Given the description of an element on the screen output the (x, y) to click on. 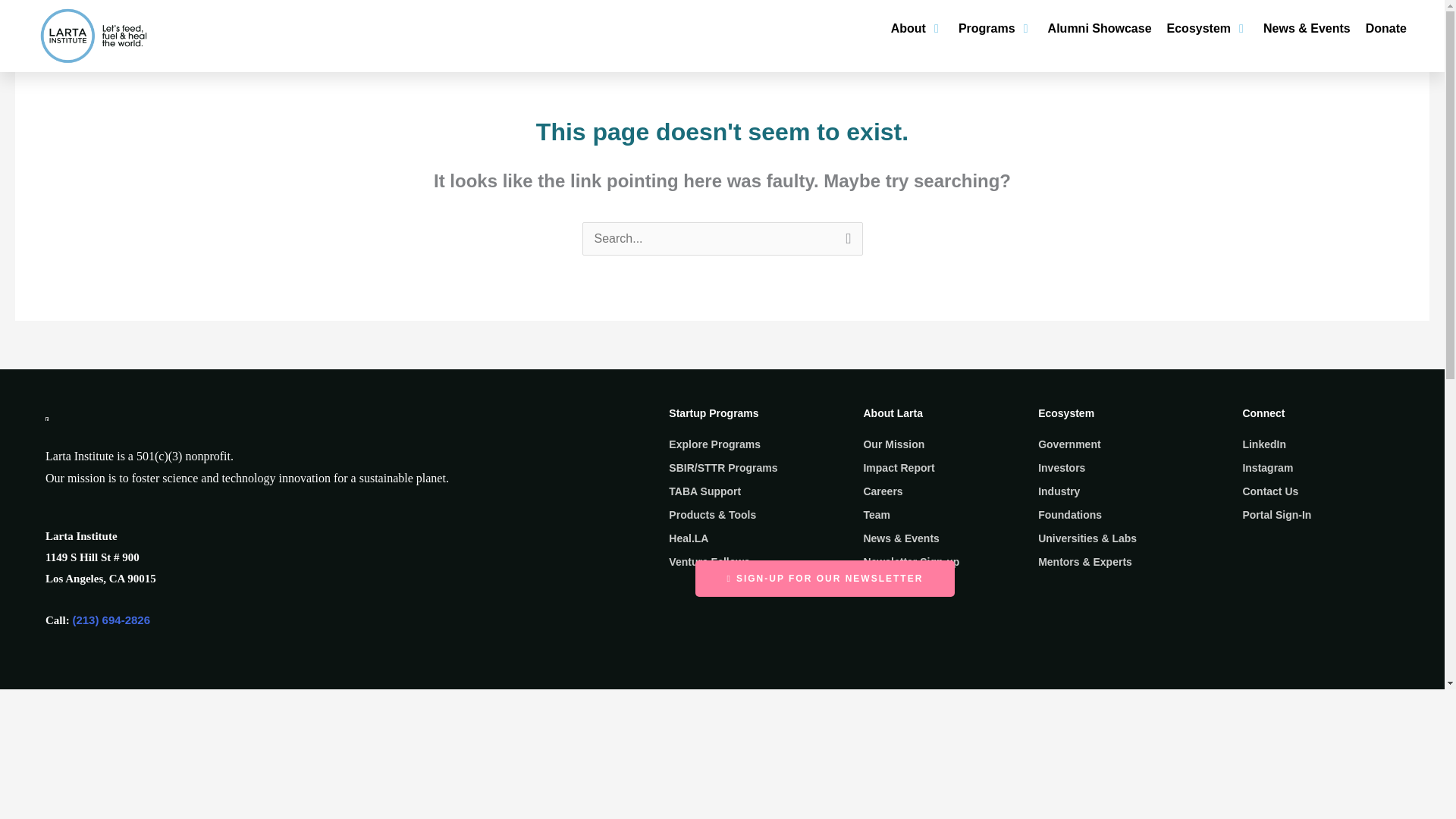
Programs (986, 28)
Alumni Showcase (1099, 28)
Ecosystem (1199, 28)
About (908, 28)
Search (844, 239)
Search (844, 239)
